Given the description of an element on the screen output the (x, y) to click on. 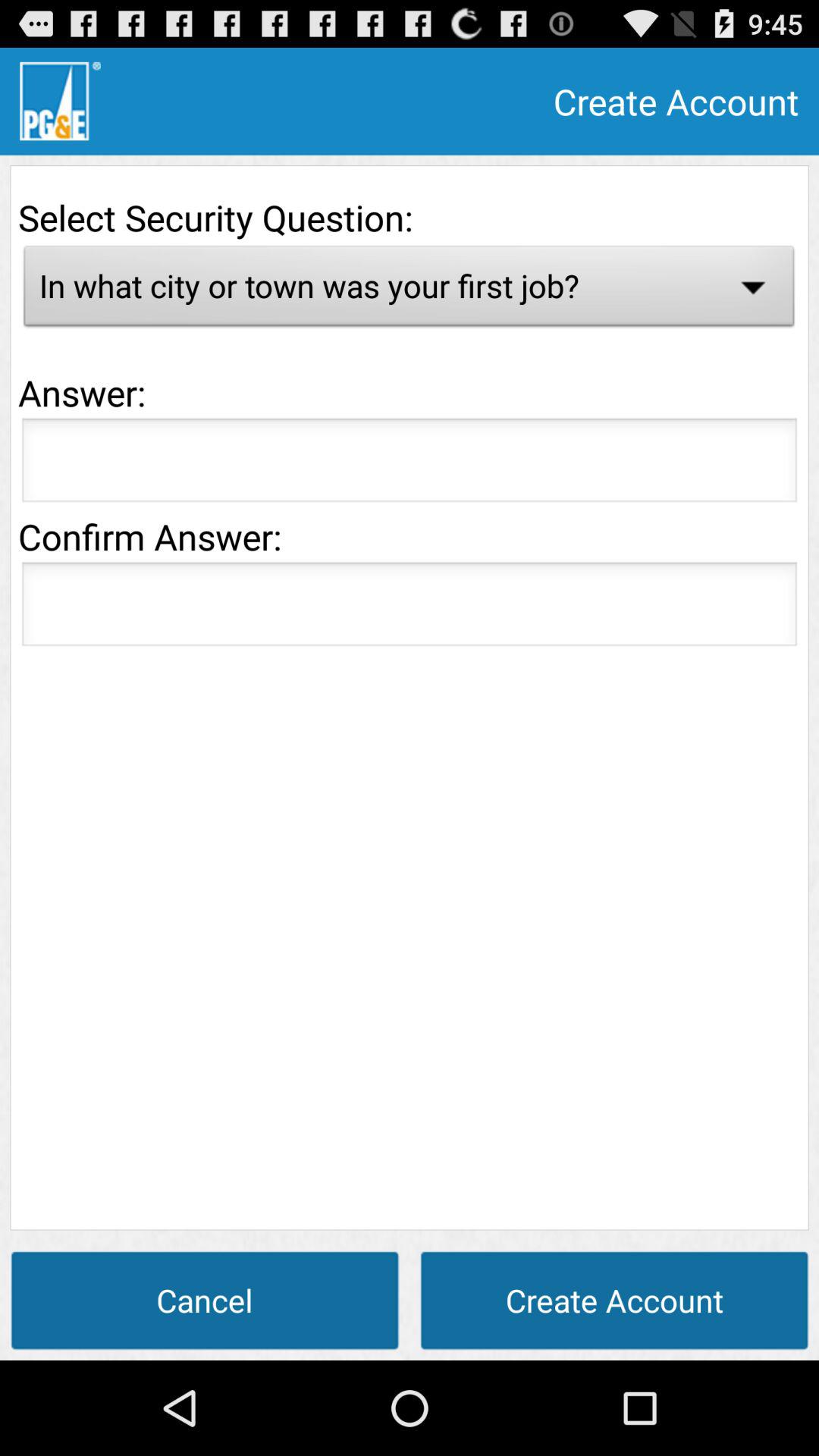
enter the answer (409, 464)
